Given the description of an element on the screen output the (x, y) to click on. 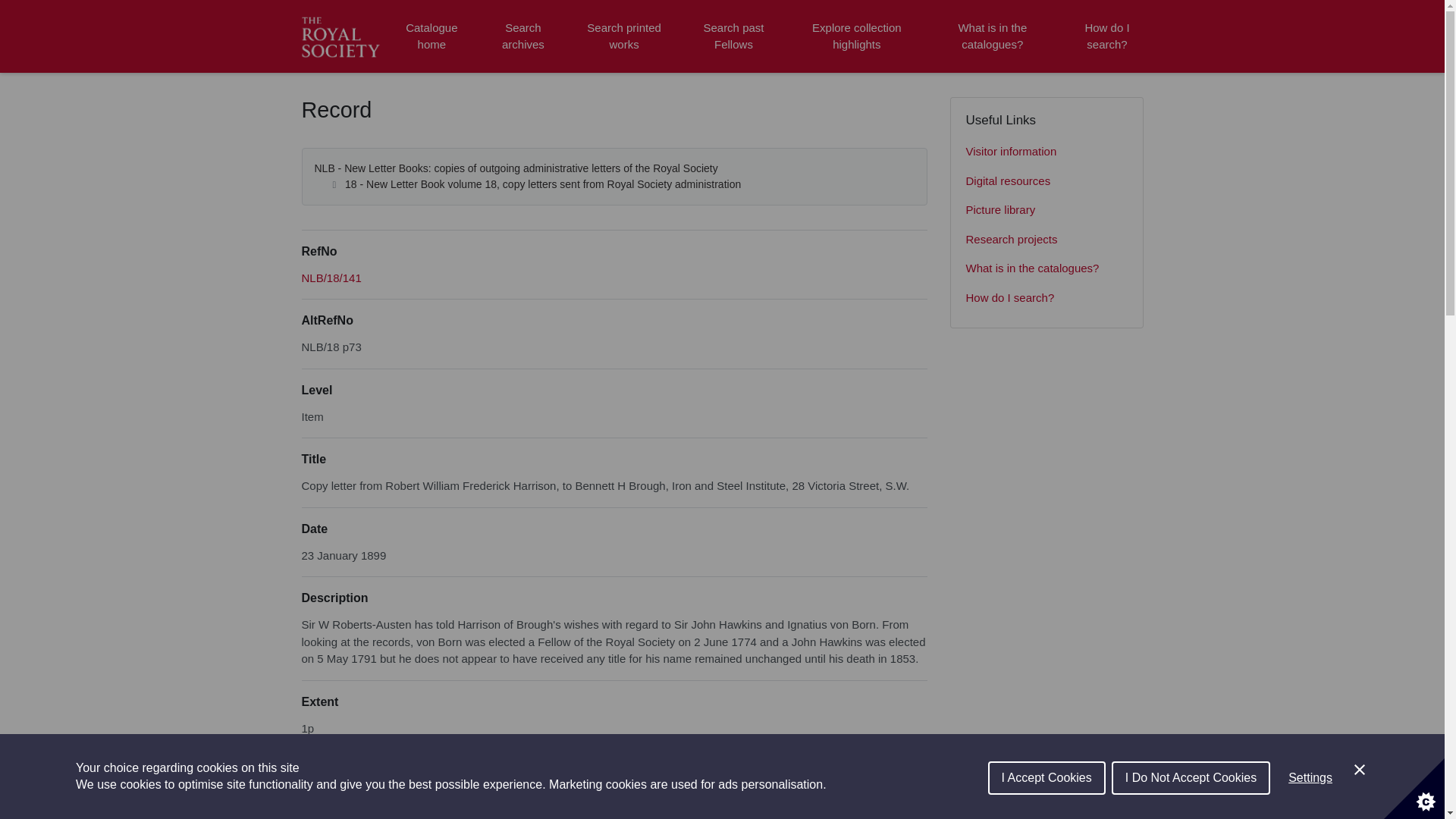
Picture library (1046, 210)
How do I search? (1106, 36)
Settings (1309, 812)
How do I search? (1046, 297)
What is in the catalogues? (1046, 268)
Explore collection highlights (856, 36)
Catalogue home (431, 36)
Visitor information (1046, 152)
Search past Fellows (732, 36)
Research projects (1046, 239)
Browse record in hierarchy. (331, 277)
Digital resources (1046, 181)
I Do Not Accept Cookies (1190, 815)
